Given the description of an element on the screen output the (x, y) to click on. 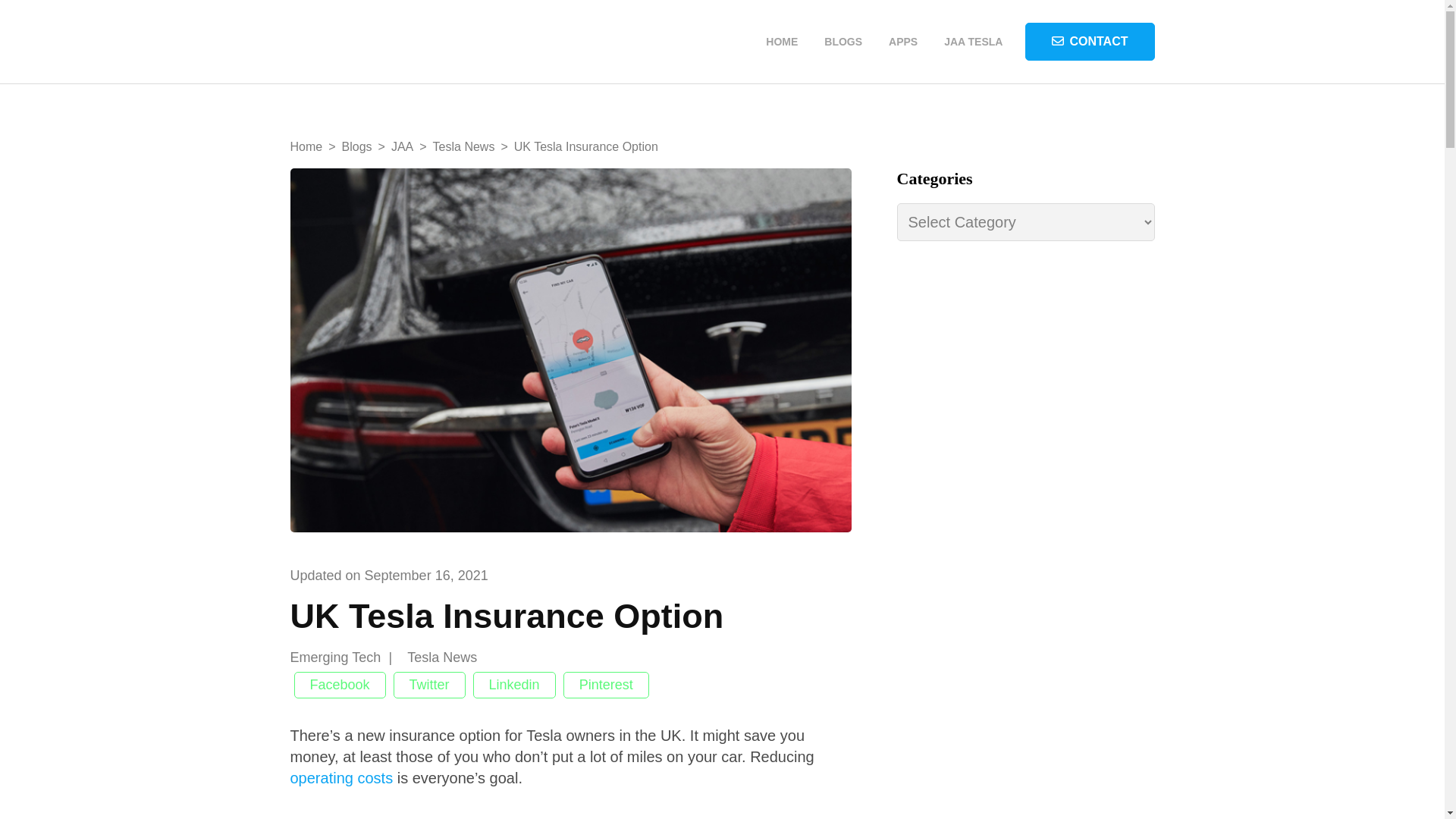
Linkedin (514, 684)
Blogs (357, 146)
Tesla News (463, 146)
September 16, 2021 (426, 575)
operating costs (341, 777)
BLOGS (843, 41)
Emerging Tech (346, 658)
APPS (903, 41)
JAA TESLA (973, 41)
Tesla News (453, 658)
Home (305, 146)
JAA (402, 146)
Pinterest (606, 684)
HOME (781, 41)
Twitter (429, 684)
